Given the description of an element on the screen output the (x, y) to click on. 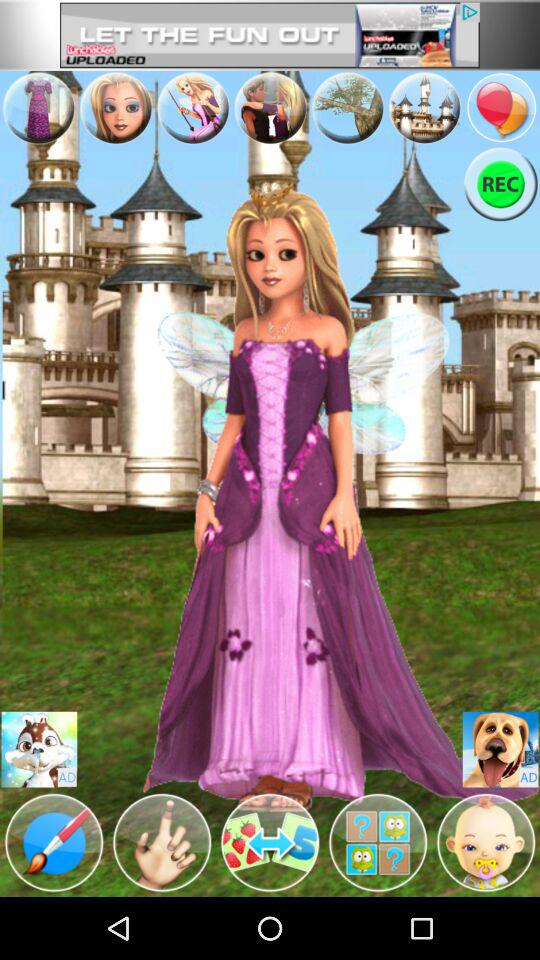
select the emoji (39, 749)
